Given the description of an element on the screen output the (x, y) to click on. 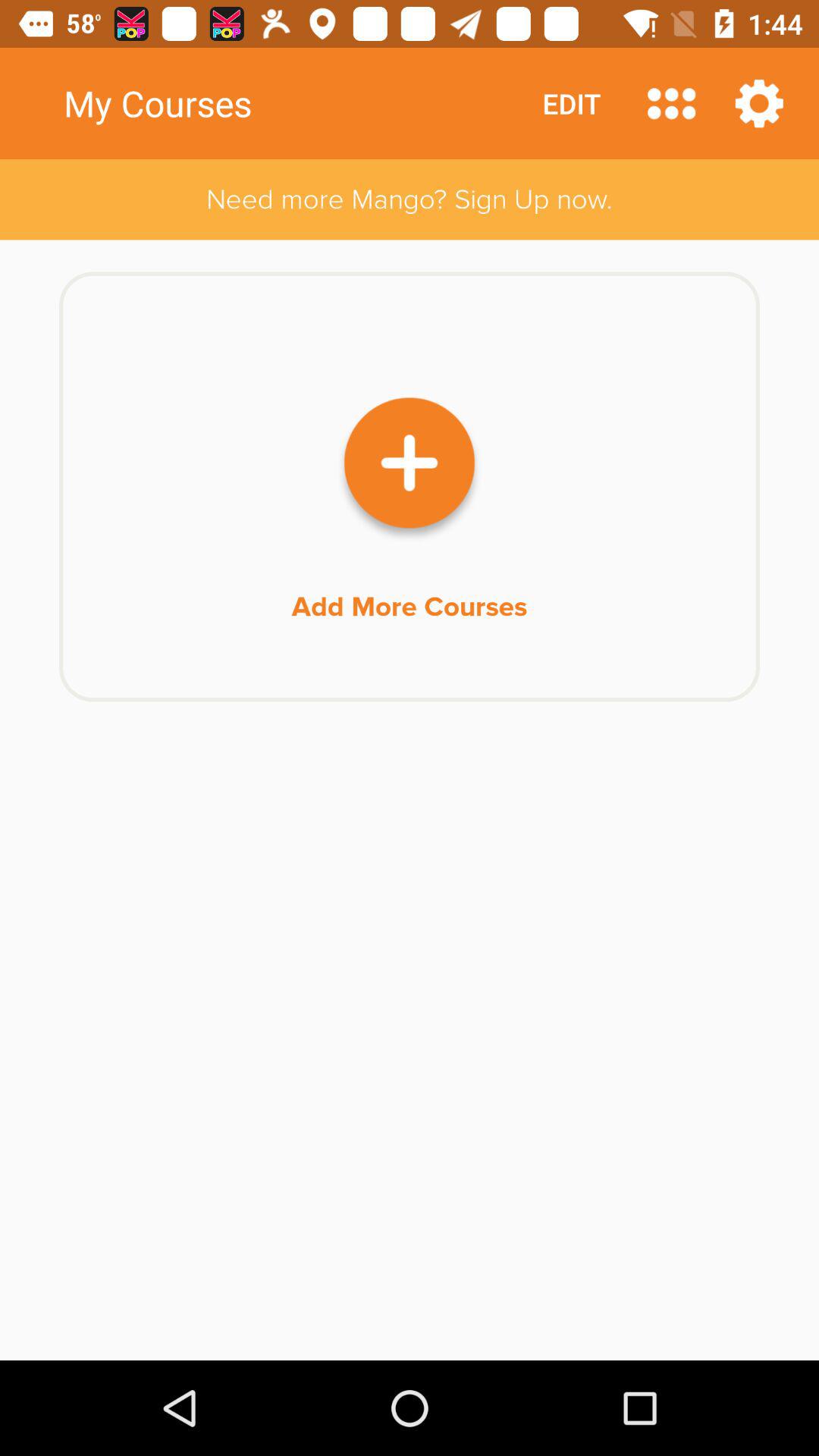
jump until need more mango (409, 199)
